Given the description of an element on the screen output the (x, y) to click on. 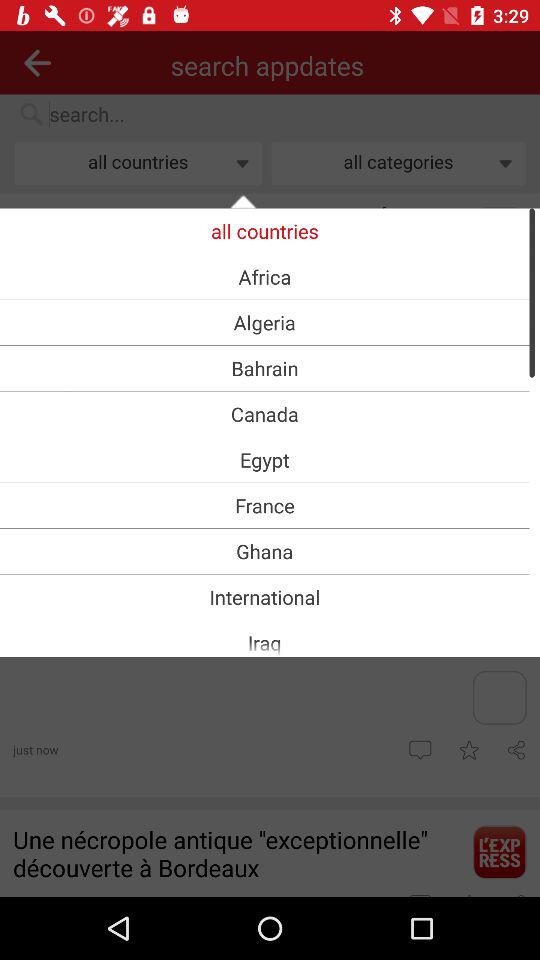
press item above the iraq icon (264, 596)
